Given the description of an element on the screen output the (x, y) to click on. 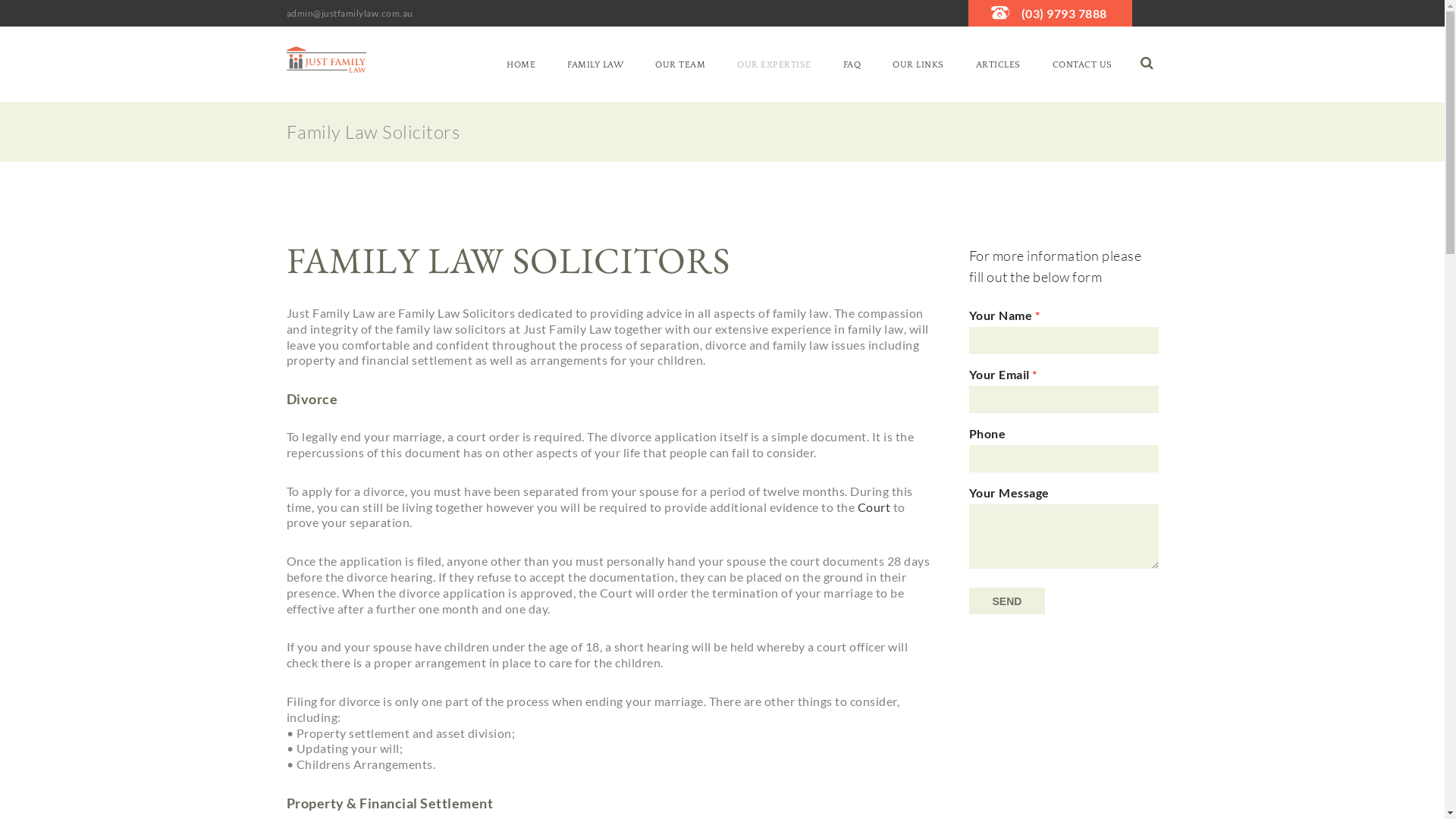
admin@justfamilylaw.com.au Element type: text (349, 12)
ARTICLES Element type: text (998, 64)
FAQ Element type: text (851, 64)
FAMILY LAW Element type: text (595, 64)
CONTACT US Element type: text (1081, 64)
HOME Element type: text (520, 64)
Send Element type: text (1007, 599)
OUR TEAM Element type: text (680, 64)
Open/close search form Element type: hover (1146, 62)
OUR EXPERTISE Element type: text (774, 64)
Court Element type: text (873, 506)
OUR LINKS Element type: text (918, 64)
